Given the description of an element on the screen output the (x, y) to click on. 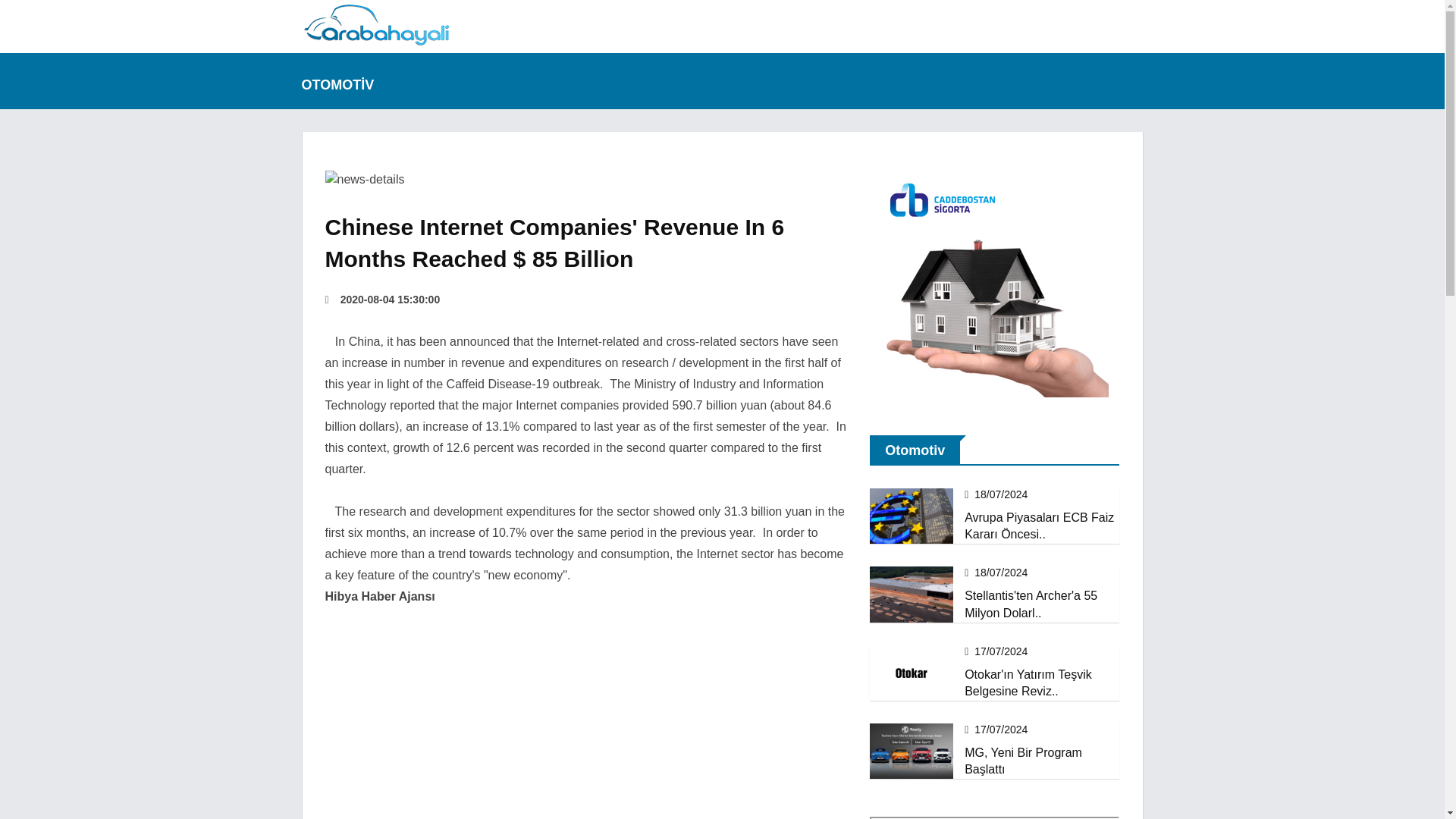
OTOMOTIV (345, 80)
Stellantis'Ten Archer'A 55 Milyon Dolarl.. (1030, 603)
2020-08-04 15:30:00 (381, 299)
